Given the description of an element on the screen output the (x, y) to click on. 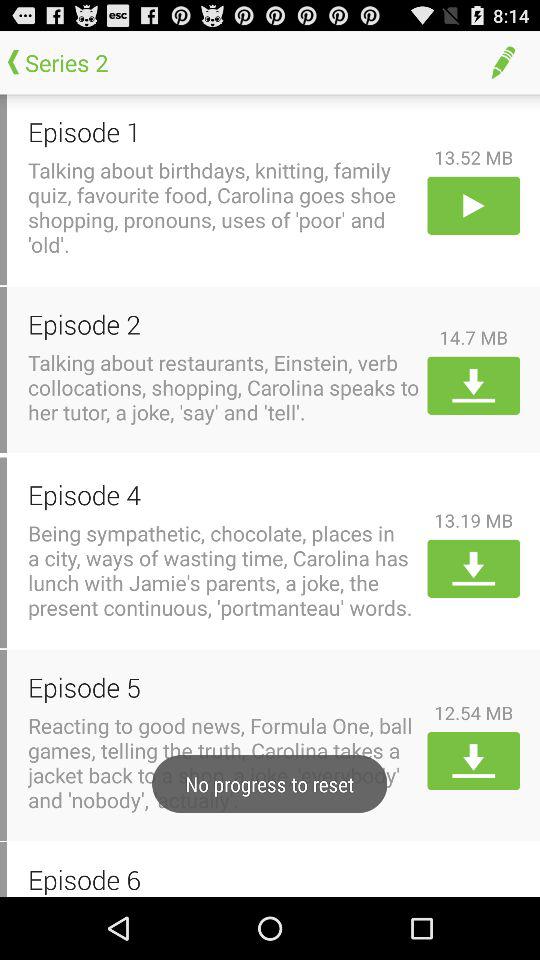
press app above episode 5 item (224, 569)
